Given the description of an element on the screen output the (x, y) to click on. 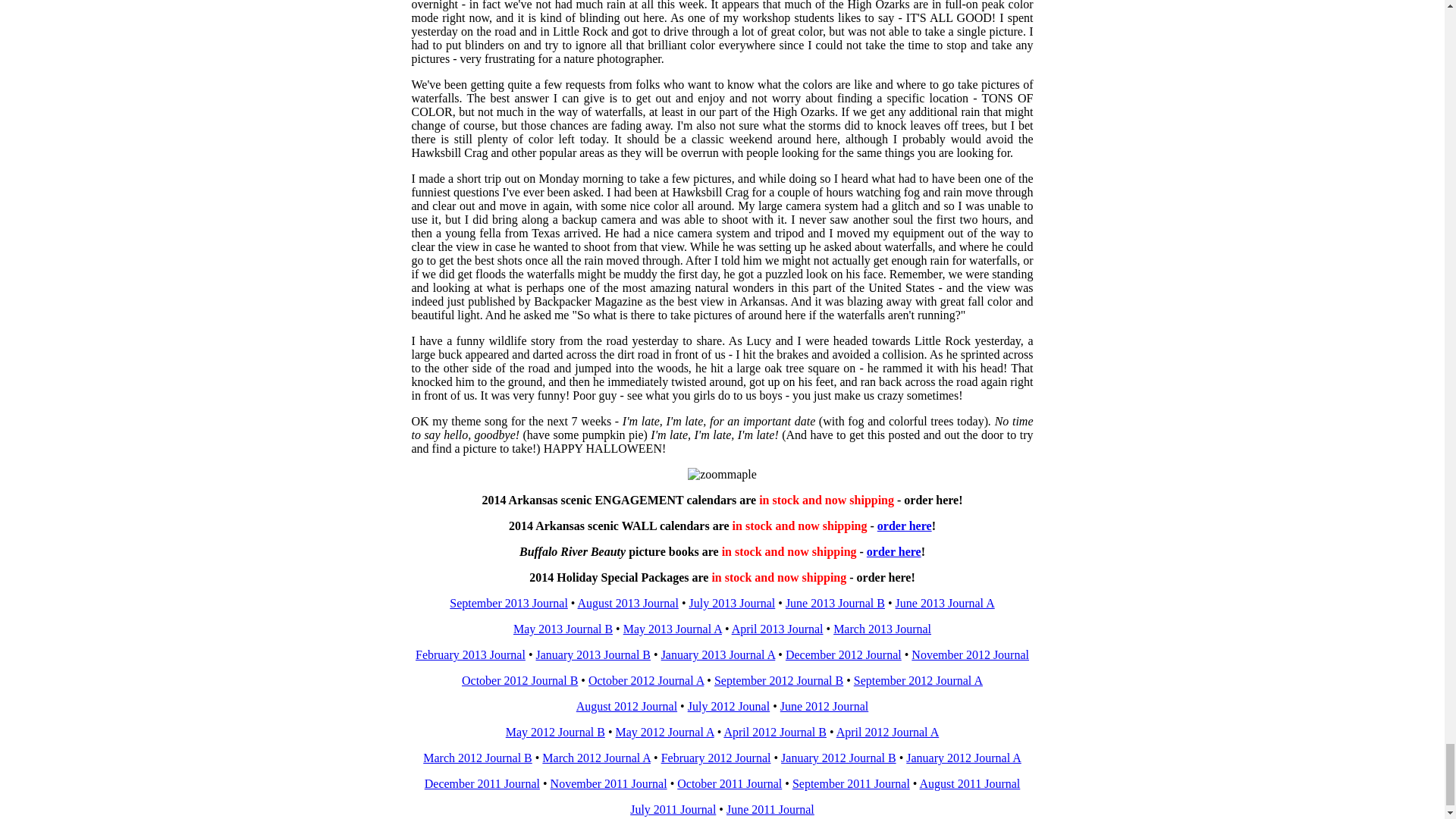
May 2013 Journal A (672, 628)
order here (904, 525)
April 2012 Journal B (775, 731)
April 2012 Journal A (887, 731)
January 2013 Journal A (718, 654)
February 2013 Journal (469, 654)
May 2012 Journal A (663, 731)
March 2013 Journal (881, 628)
June 2012 Journal (823, 706)
May 2013 Journal B (562, 628)
July 2013 Journal (731, 603)
January 2013 Journal B (592, 654)
May 2012 Journal B (555, 731)
June 2013 Journal B (835, 603)
June 2013 Journal A (944, 603)
